Given the description of an element on the screen output the (x, y) to click on. 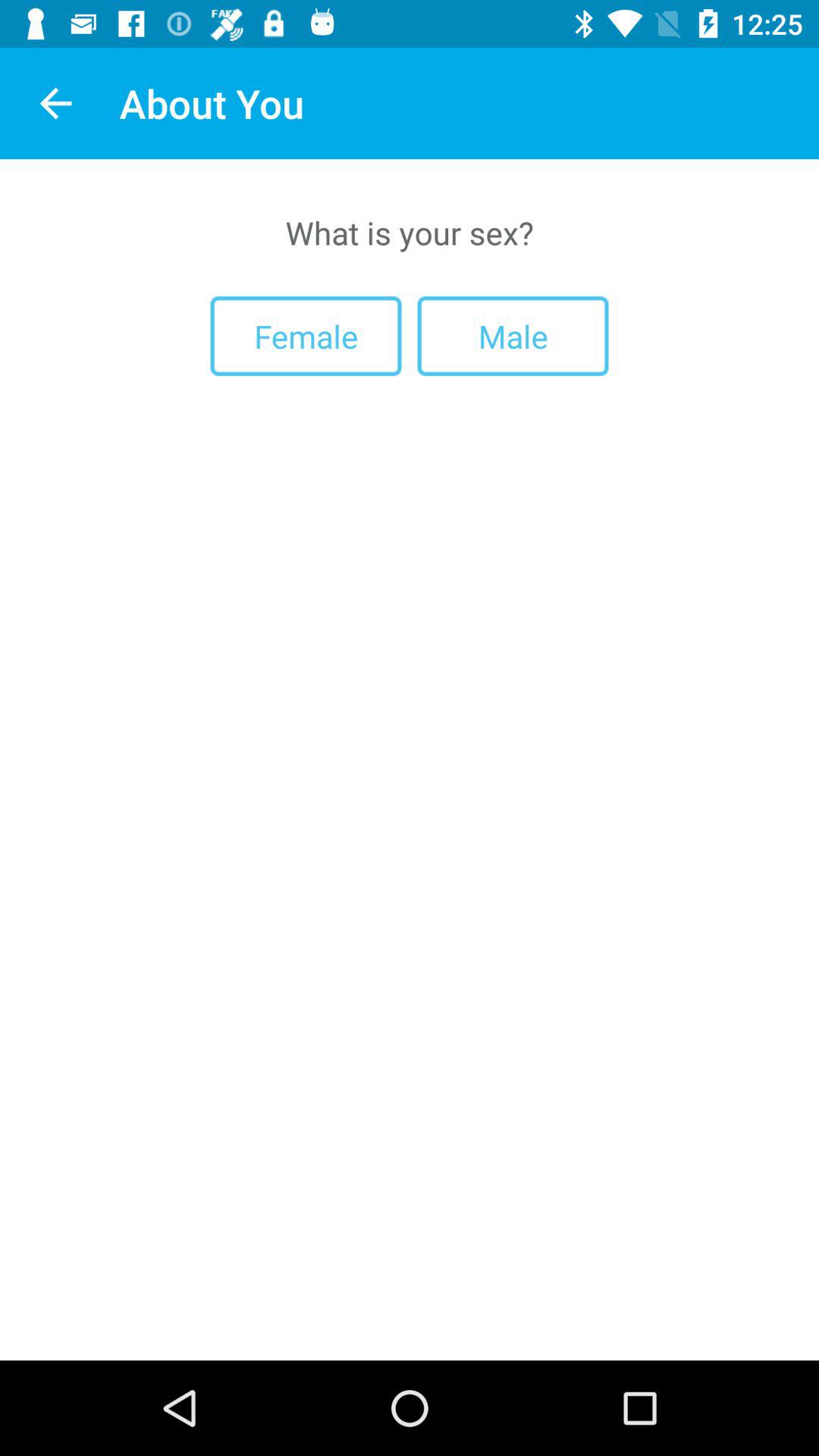
tap the item below the what is your (305, 335)
